Given the description of an element on the screen output the (x, y) to click on. 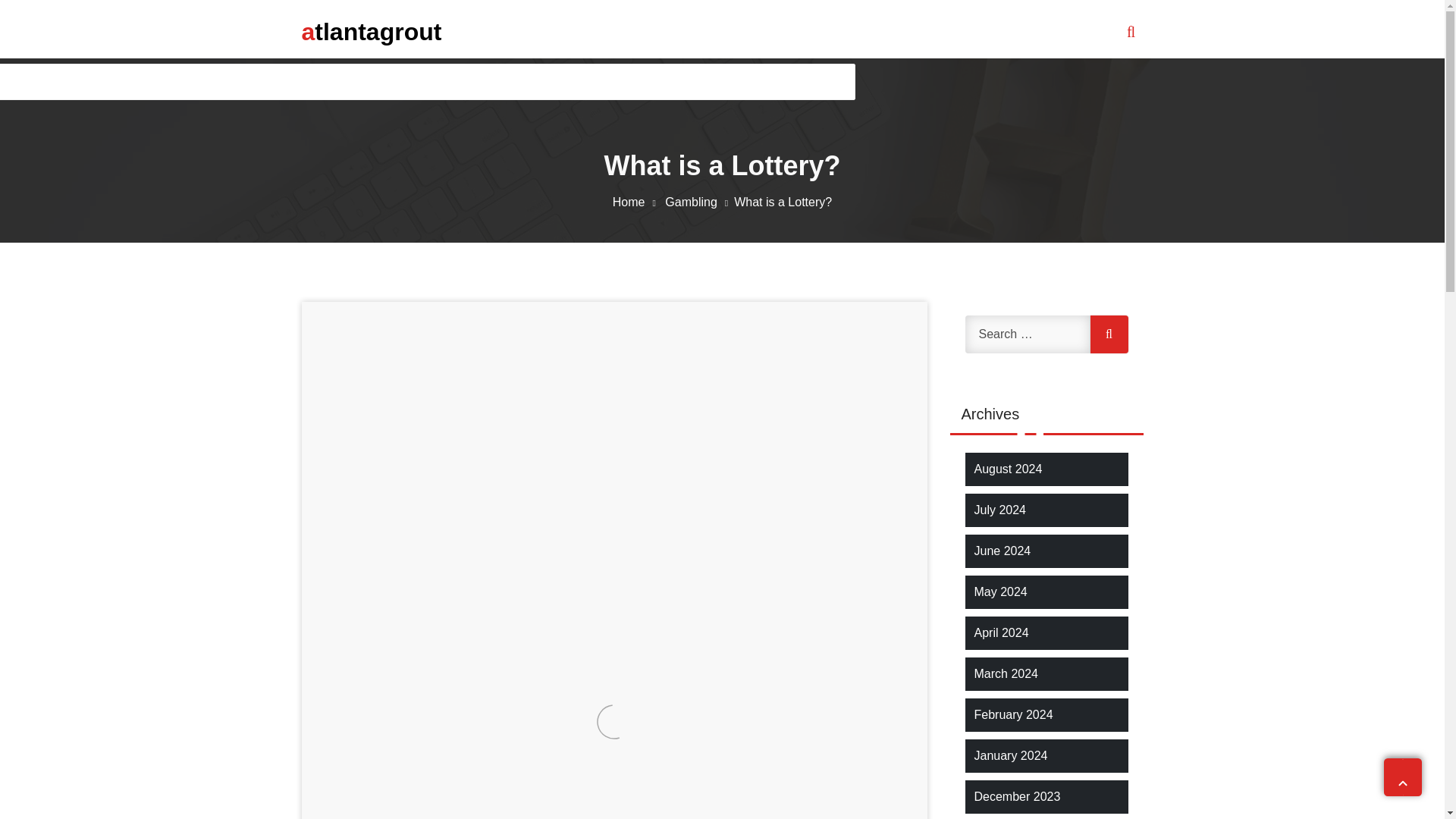
February 2024 (1013, 714)
May 2024 (1000, 592)
April 2024 (1000, 633)
Gambling (699, 201)
August 2024 (1008, 469)
June 2024 (1002, 551)
January 2024 (1010, 755)
atlantagrout (371, 31)
December 2023 (1016, 796)
July 2024 (1000, 510)
March 2024 (1006, 674)
Home (637, 201)
